Given the description of an element on the screen output the (x, y) to click on. 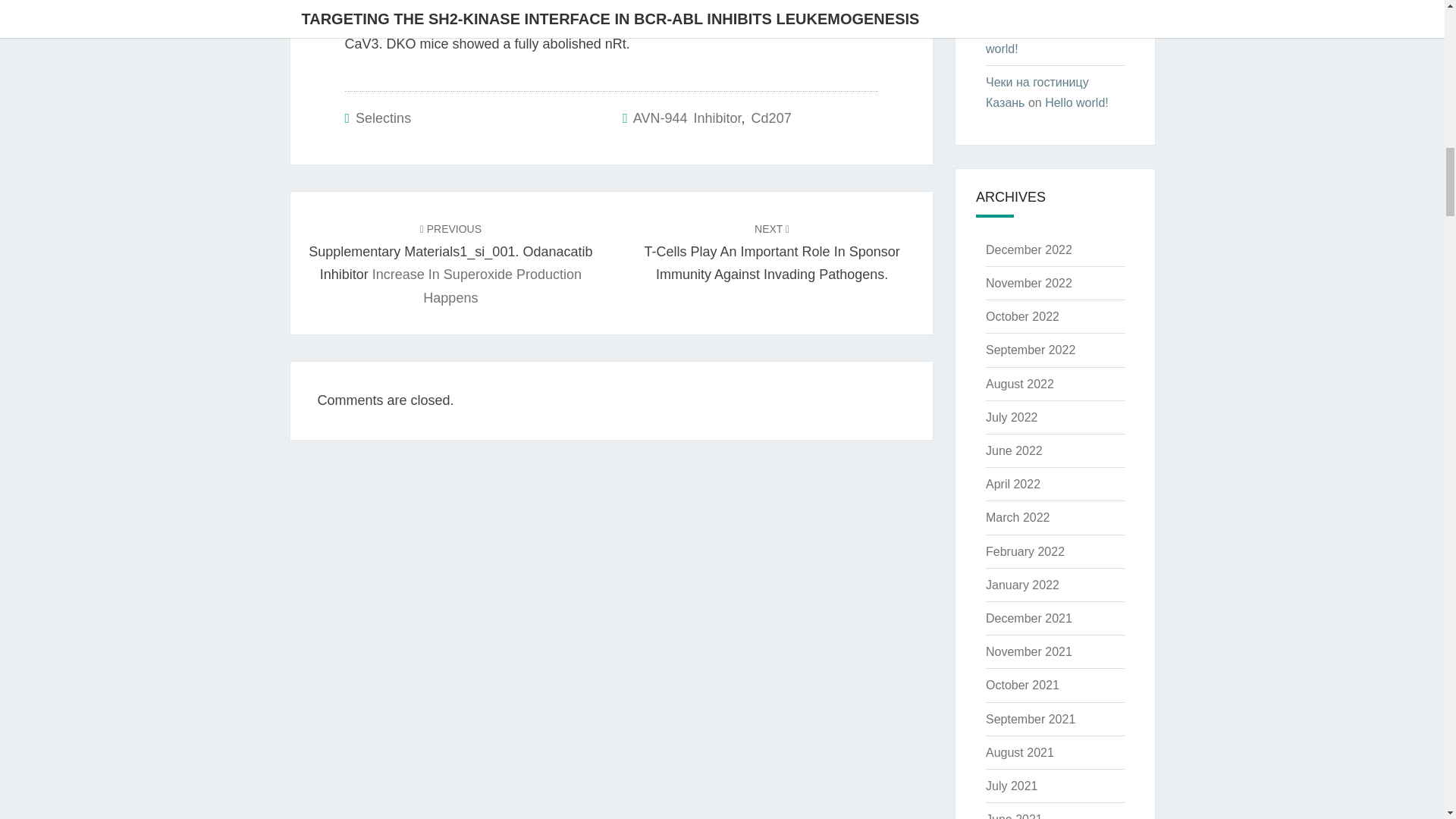
breast lift tape (1023, 28)
April 2022 (1013, 483)
March 2022 (1017, 517)
December 2022 (1028, 249)
AVN-944 Inhibitor (687, 118)
July 2022 (1011, 417)
October 2022 (1022, 316)
Cd207 (771, 118)
Selectins (382, 118)
